Given the description of an element on the screen output the (x, y) to click on. 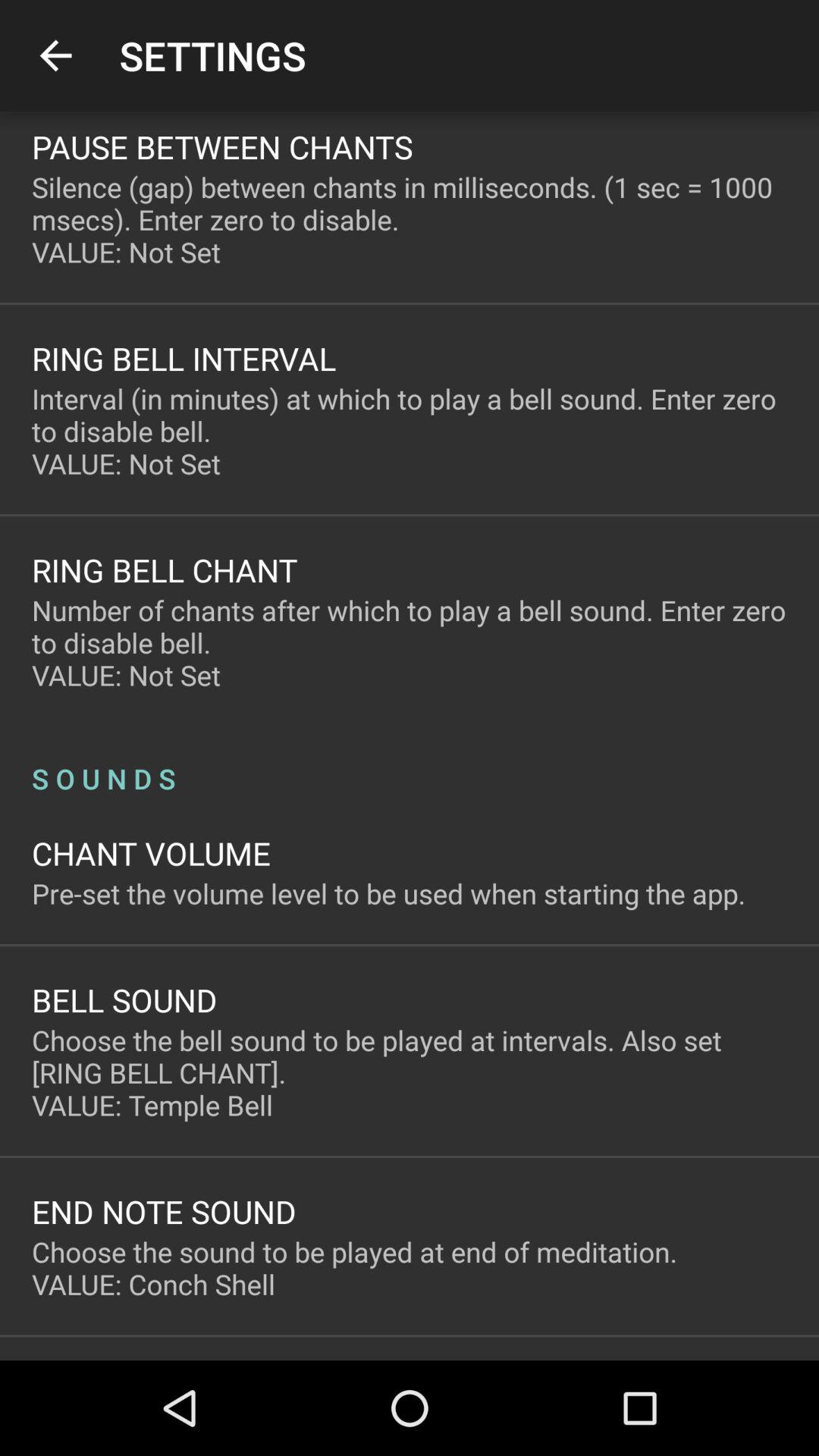
flip until the chant volume (150, 852)
